Given the description of an element on the screen output the (x, y) to click on. 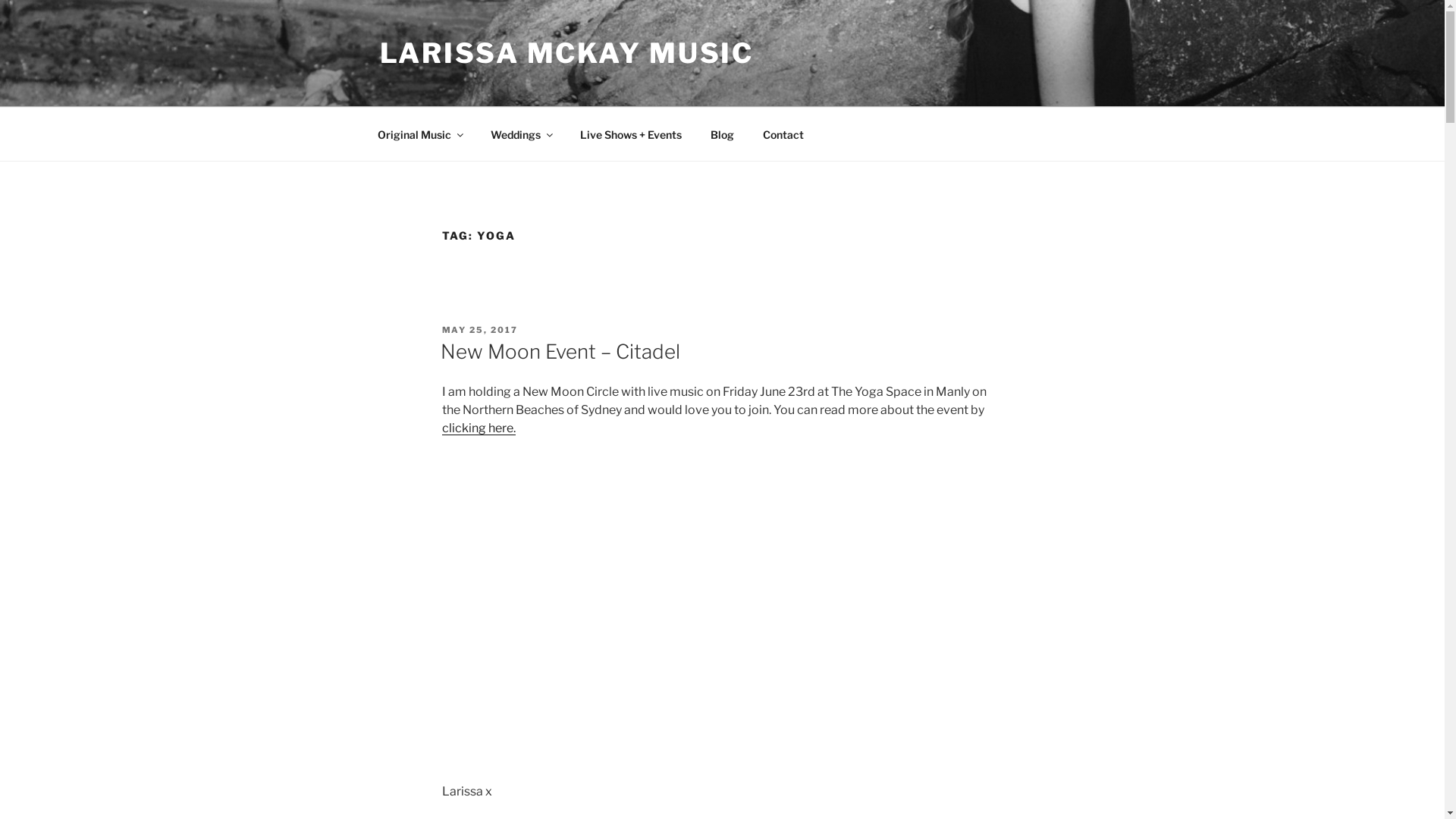
Contact Element type: text (782, 133)
clicking here. Element type: text (477, 427)
LARISSA MCKAY MUSIC Element type: text (566, 52)
Original Music Element type: text (419, 133)
Weddings Element type: text (520, 133)
Live Shows + Events Element type: text (631, 133)
MAY 25, 2017 Element type: text (479, 329)
Blog Element type: text (722, 133)
